Given the description of an element on the screen output the (x, y) to click on. 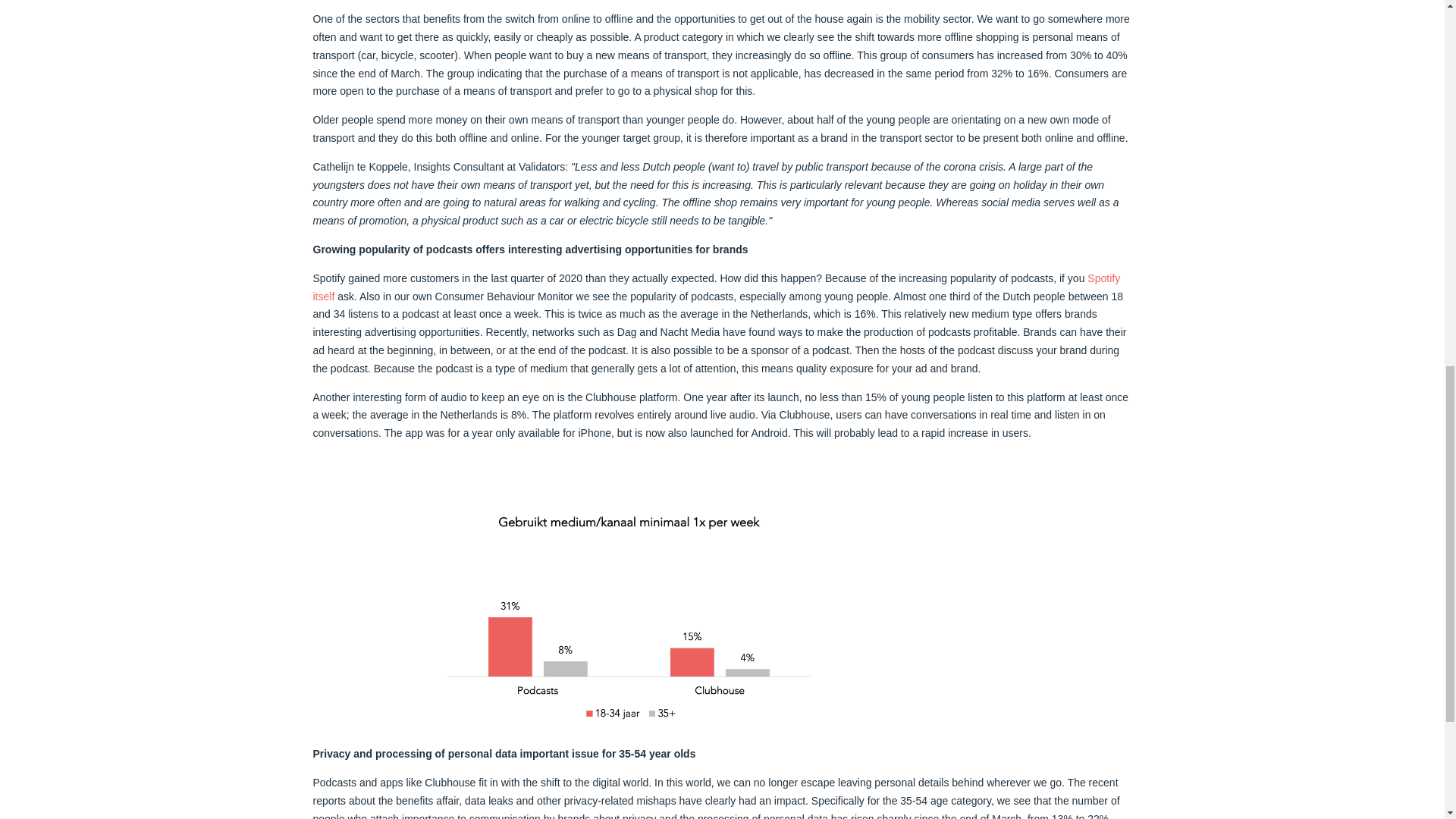
Spotify itself (716, 286)
GrafiekMC20mei (628, 617)
